Given the description of an element on the screen output the (x, y) to click on. 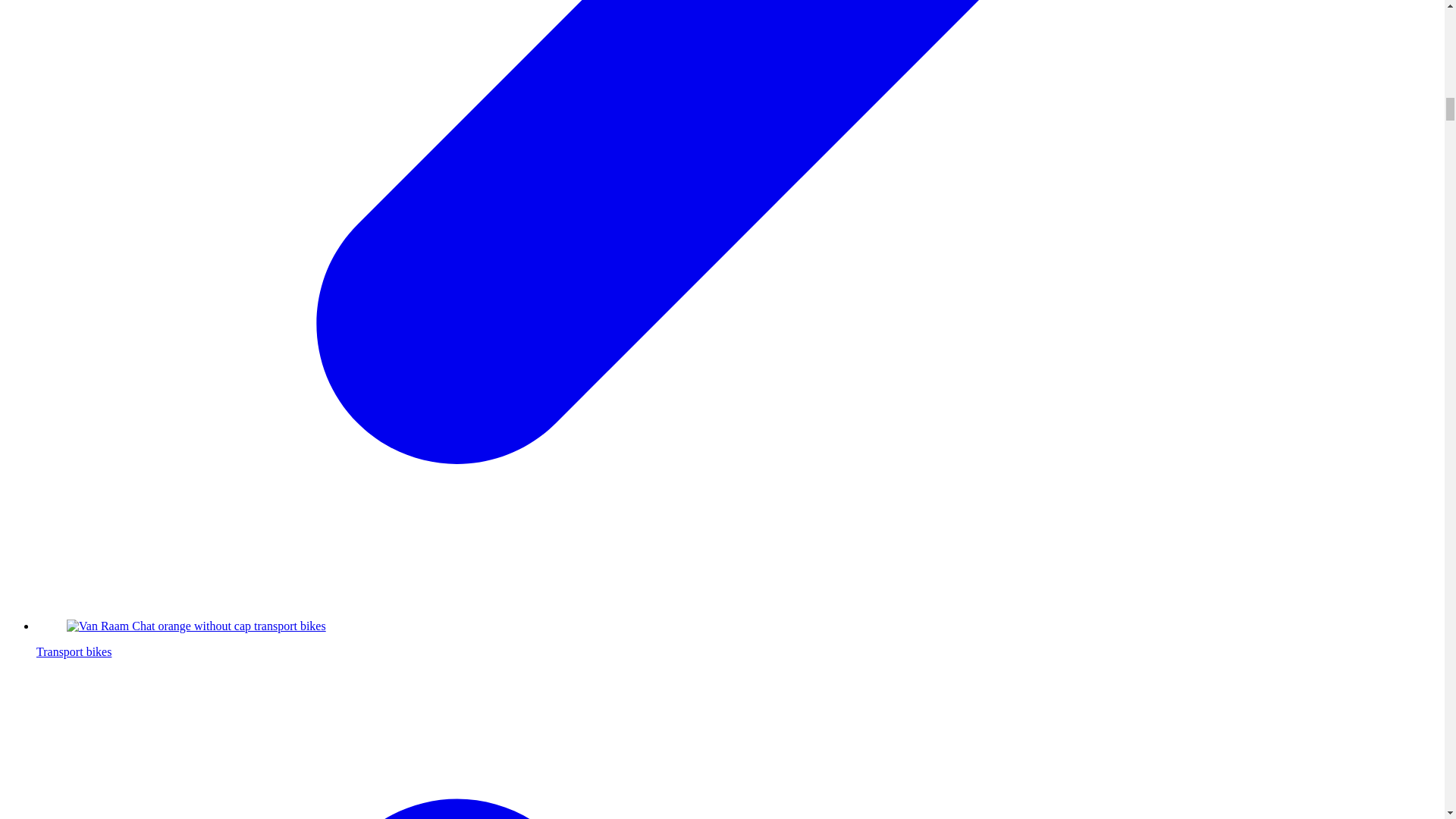
Van Raam Chat orange without cap transport bikes (196, 626)
